Given the description of an element on the screen output the (x, y) to click on. 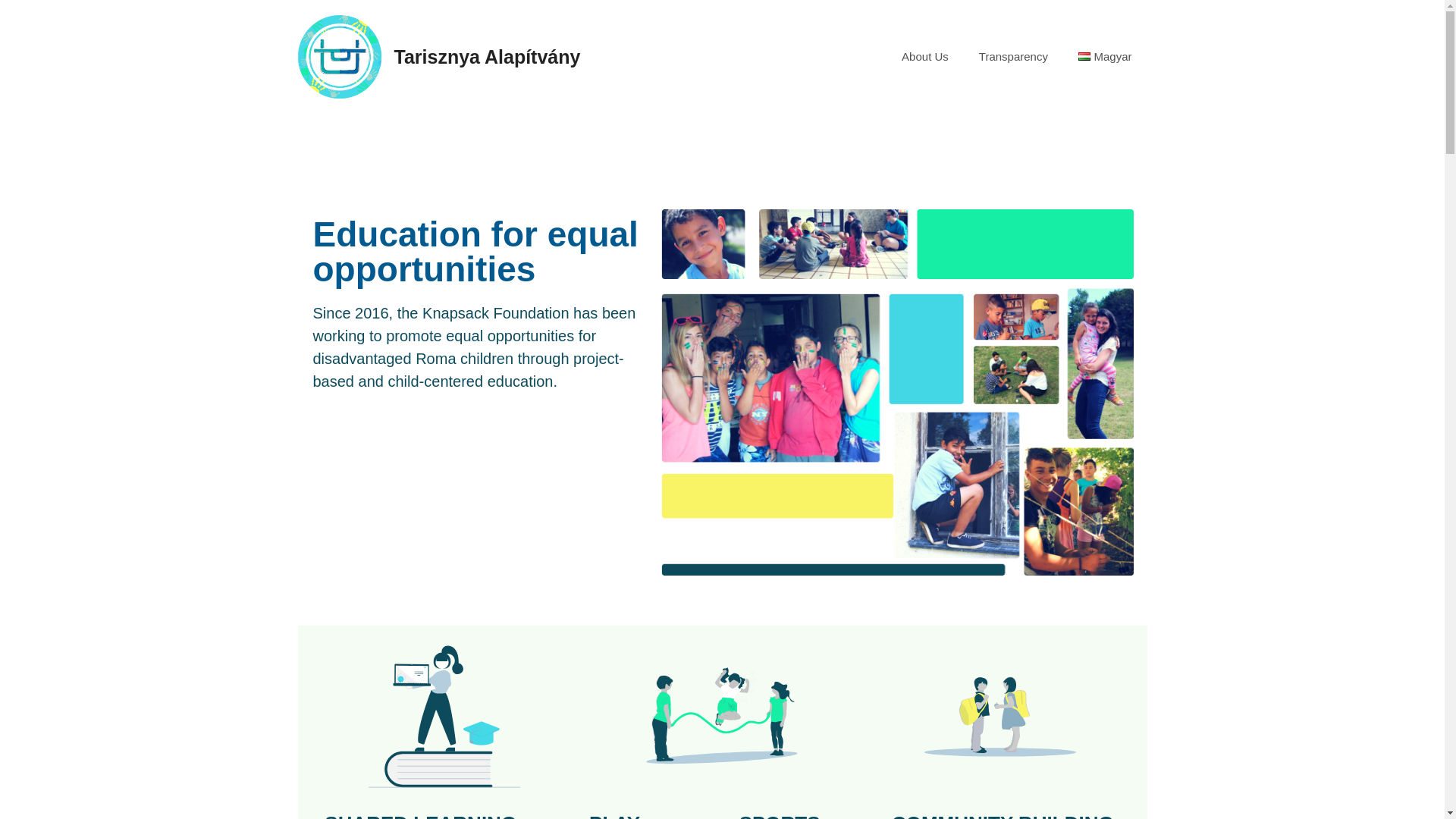
About Us (924, 56)
Magyar (1104, 56)
Transparency (1012, 56)
